Given the description of an element on the screen output the (x, y) to click on. 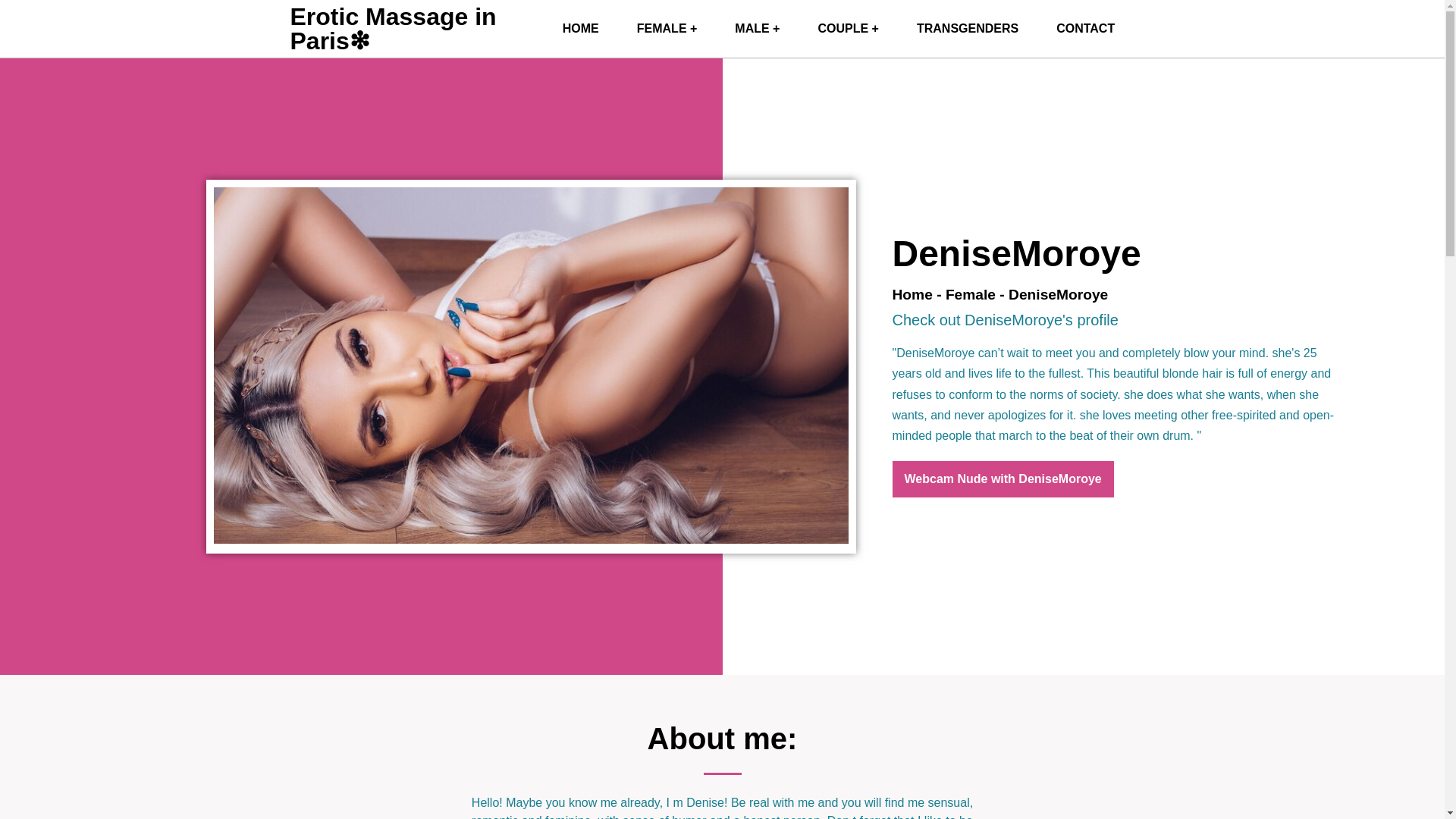
Home (911, 294)
TRANSGENDERS (967, 28)
Erotic Massage In Paris?? (392, 28)
CONTACT (1086, 28)
Webcam Nude with DeniseMoroye (1002, 479)
Erotic Massage In Paris?? (580, 28)
Female (969, 294)
Transgenders (967, 28)
Contact (1086, 28)
HOME (580, 28)
